Given the description of an element on the screen output the (x, y) to click on. 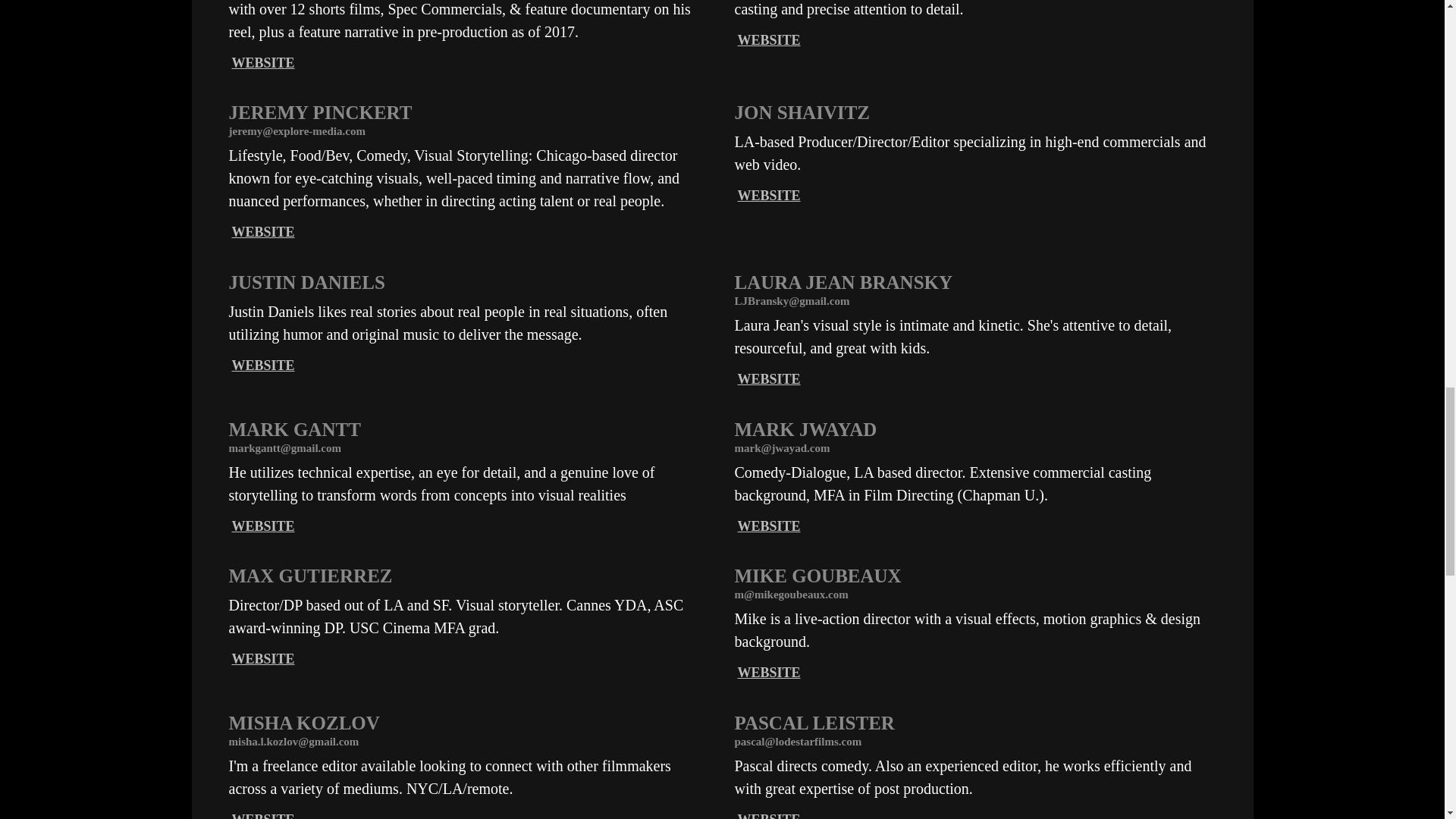
WEBSITE (263, 231)
WEBSITE (767, 39)
WEBSITE (767, 195)
WEBSITE (263, 365)
WEBSITE (263, 525)
WEBSITE (767, 672)
WEBSITE (263, 815)
WEBSITE (767, 815)
WEBSITE (263, 658)
WEBSITE (767, 378)
